Given the description of an element on the screen output the (x, y) to click on. 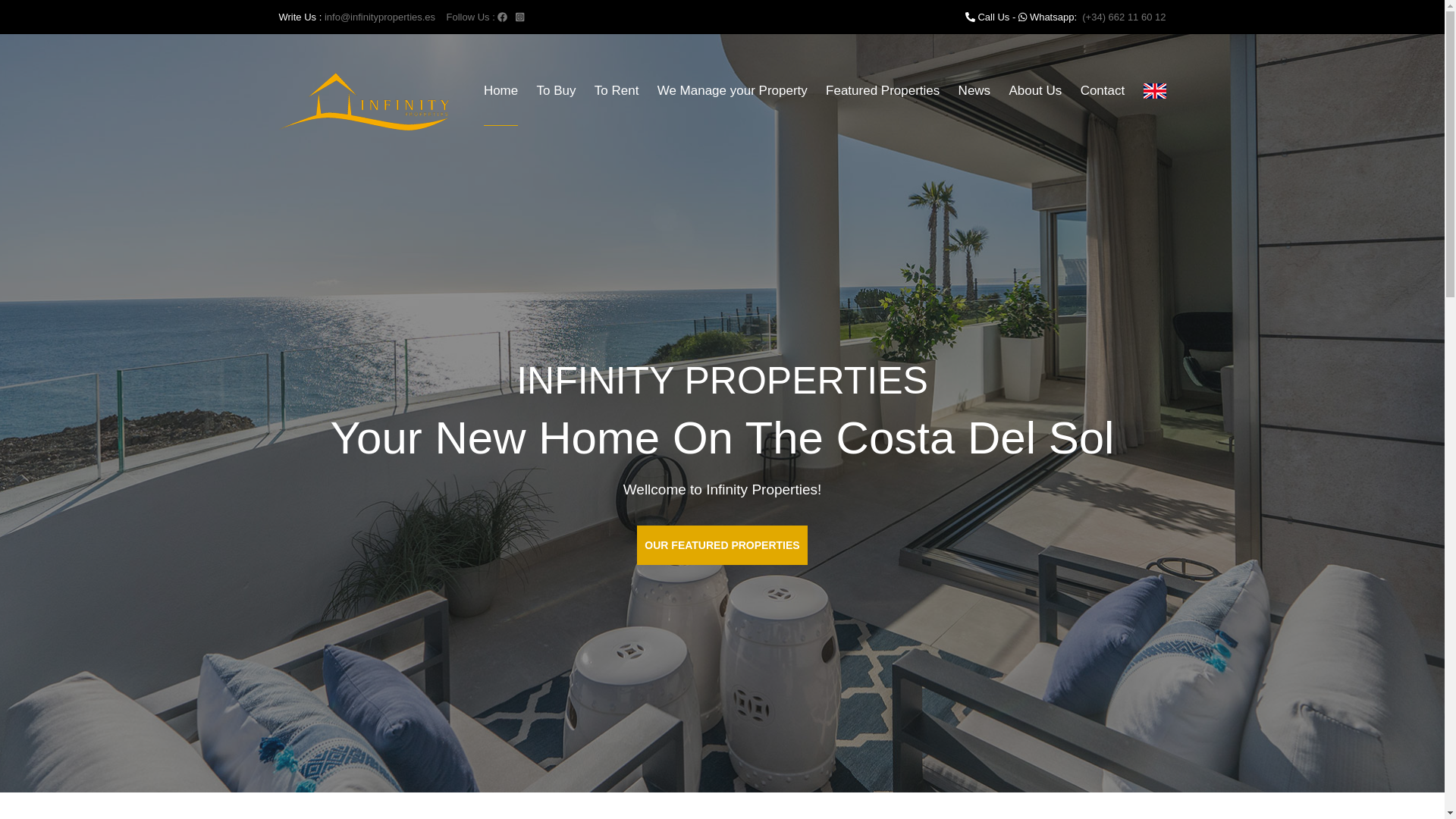
OUR FEATURED PROPERTIES (721, 547)
Featured Properties (882, 96)
We Manage your Property (733, 96)
About Us (1035, 96)
